Given the description of an element on the screen output the (x, y) to click on. 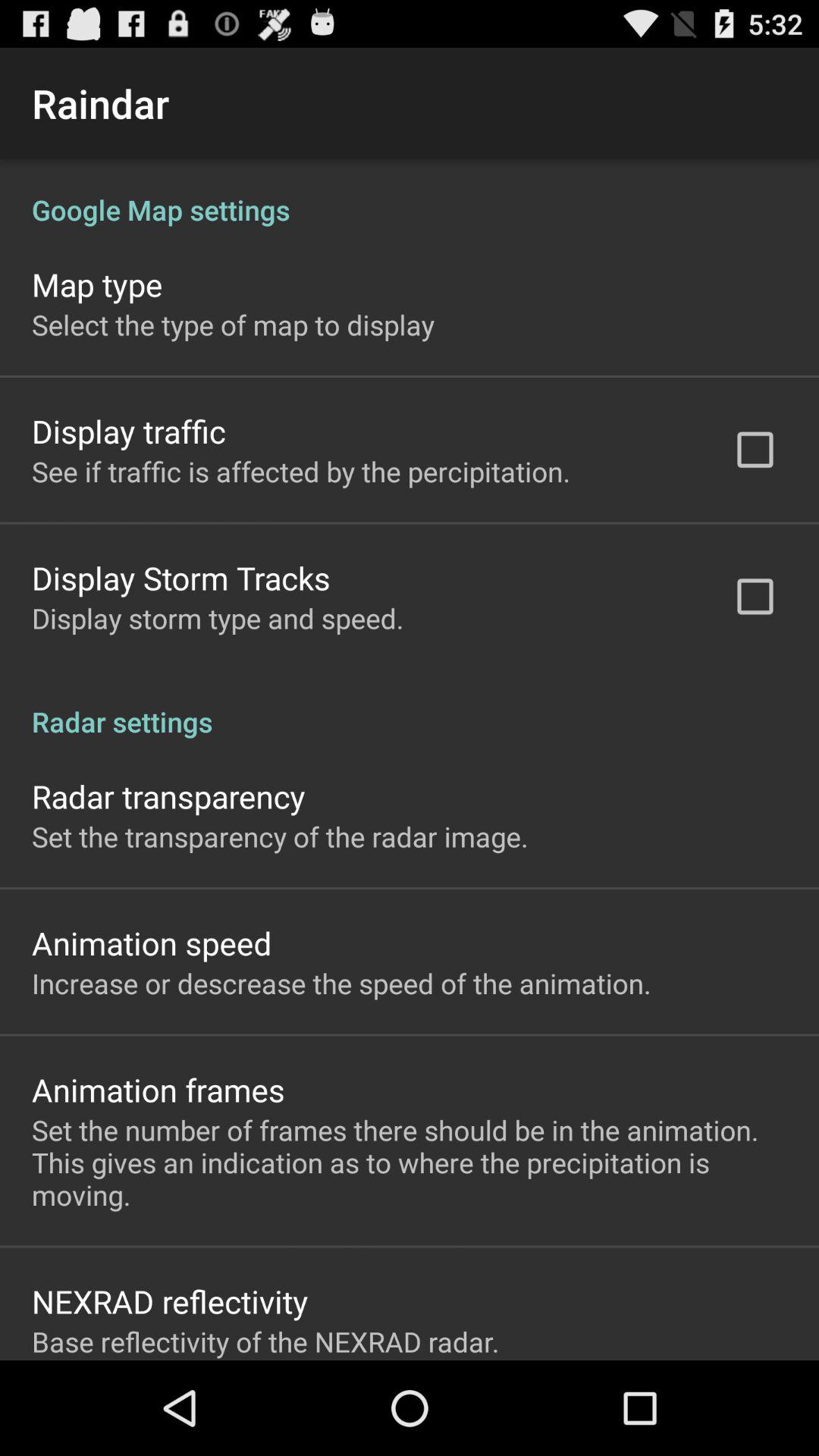
turn on display traffic icon (128, 430)
